Given the description of an element on the screen output the (x, y) to click on. 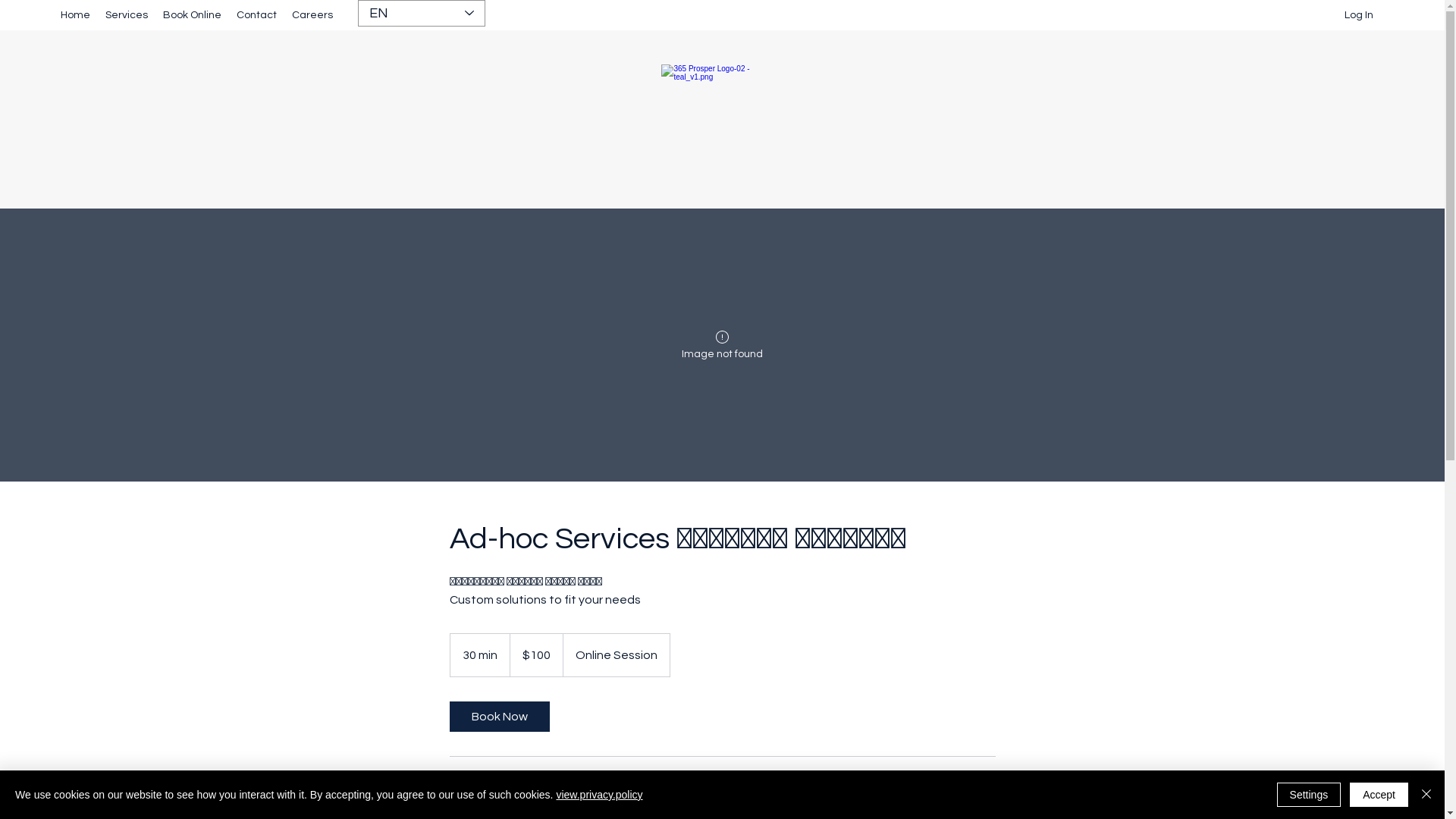
Accept Element type: text (1378, 794)
Log In Element type: text (1358, 15)
Book Online Element type: text (192, 14)
view.privacy.policy Element type: text (598, 794)
Contact Element type: text (256, 14)
Book Now Element type: text (498, 716)
Services Element type: text (126, 14)
Careers Element type: text (312, 14)
Settings Element type: text (1309, 794)
Home Element type: text (75, 14)
